Given the description of an element on the screen output the (x, y) to click on. 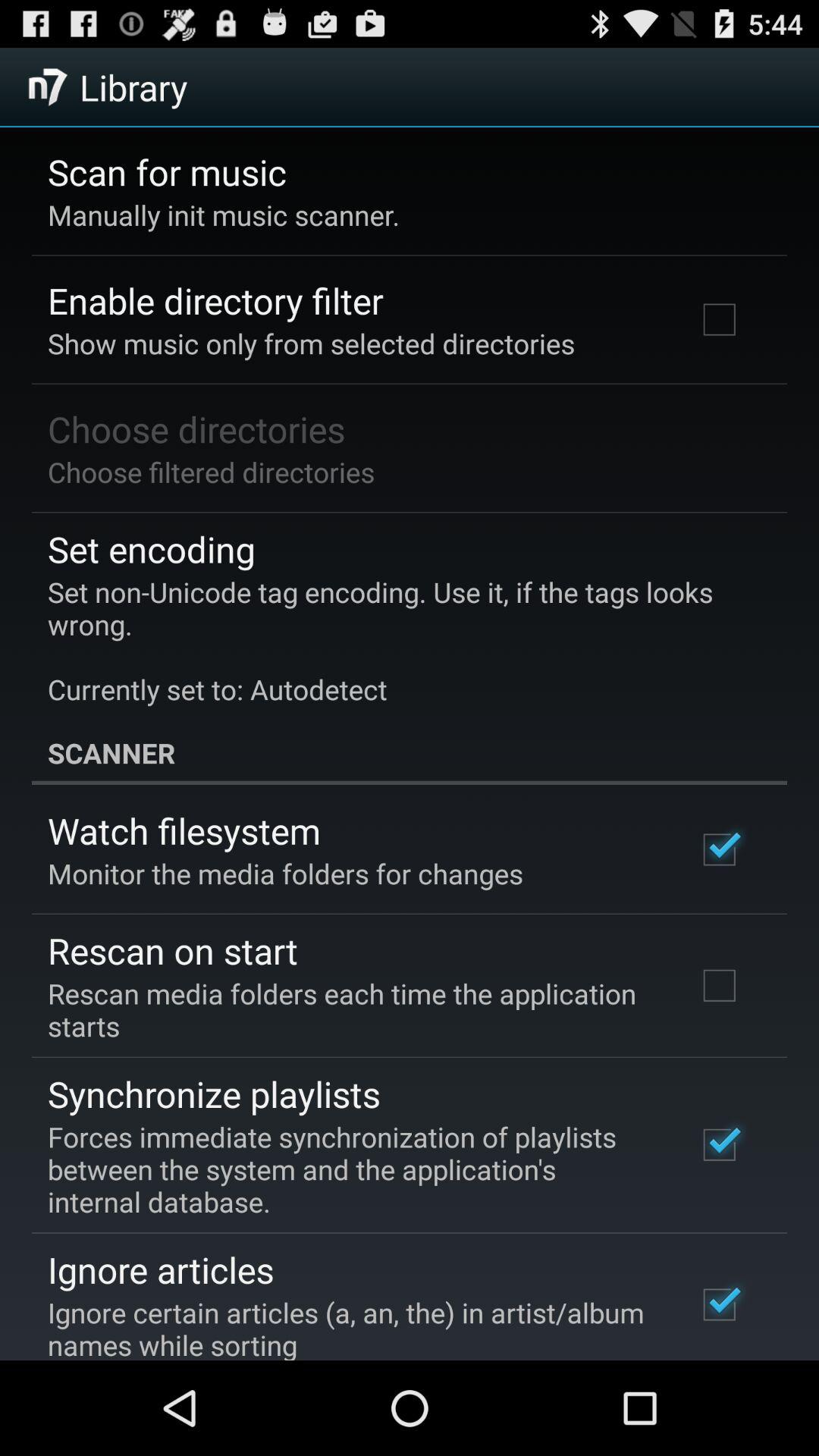
jump until synchronize playlists icon (213, 1093)
